Given the description of an element on the screen output the (x, y) to click on. 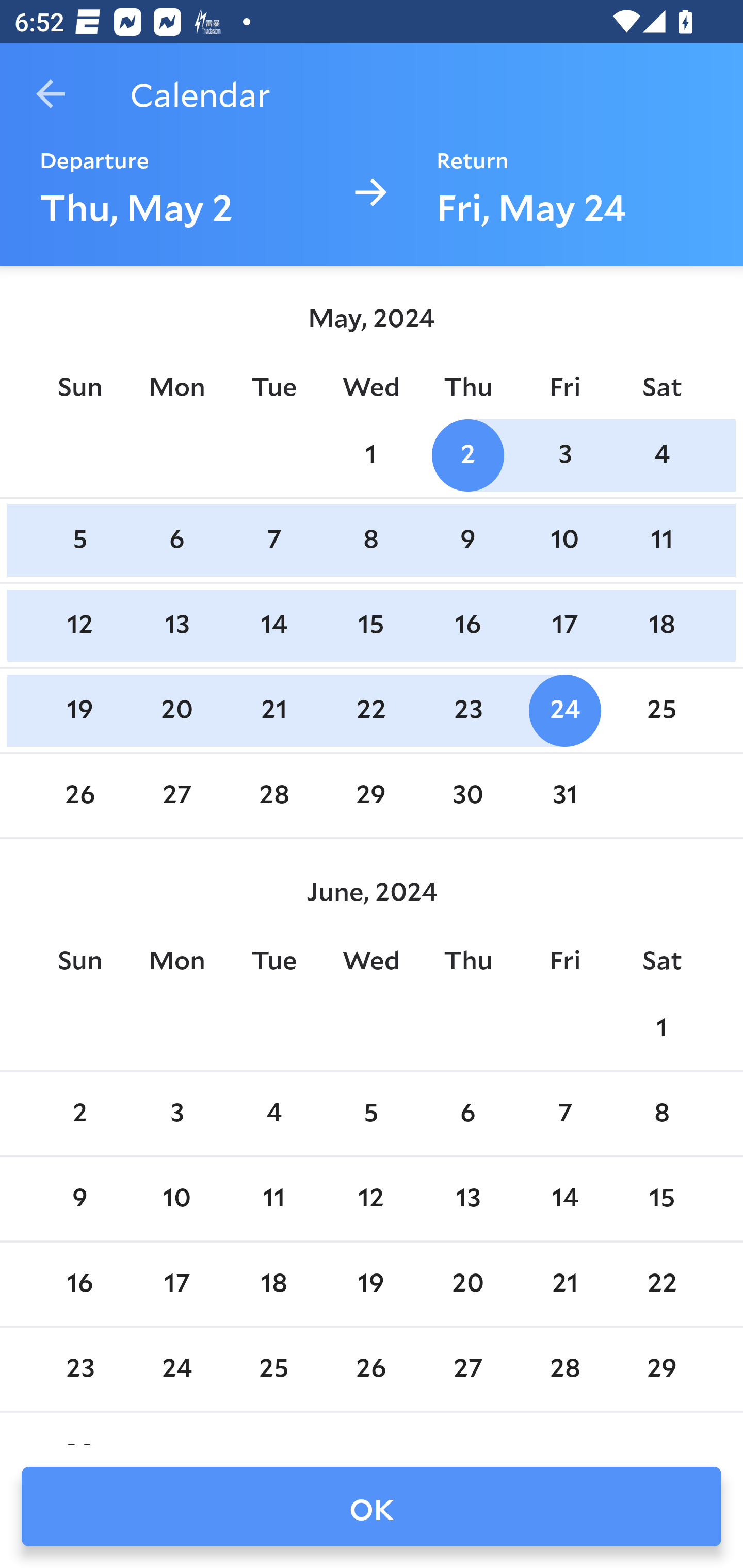
Navigate up (50, 93)
1 (371, 454)
2 (467, 454)
3 (565, 454)
4 (661, 454)
5 (79, 540)
6 (177, 540)
7 (273, 540)
8 (371, 540)
9 (467, 540)
10 (565, 540)
11 (661, 540)
12 (79, 625)
13 (177, 625)
14 (273, 625)
15 (371, 625)
16 (467, 625)
17 (565, 625)
18 (661, 625)
19 (79, 710)
20 (177, 710)
21 (273, 710)
22 (371, 710)
23 (467, 710)
24 (565, 710)
25 (661, 710)
26 (79, 796)
27 (177, 796)
28 (273, 796)
29 (371, 796)
30 (467, 796)
31 (565, 796)
1 (661, 1028)
2 (79, 1114)
3 (177, 1114)
4 (273, 1114)
5 (371, 1114)
6 (467, 1114)
7 (565, 1114)
8 (661, 1114)
9 (79, 1199)
10 (177, 1199)
11 (273, 1199)
12 (371, 1199)
13 (467, 1199)
14 (565, 1199)
15 (661, 1199)
16 (79, 1284)
17 (177, 1284)
18 (273, 1284)
